Given the description of an element on the screen output the (x, y) to click on. 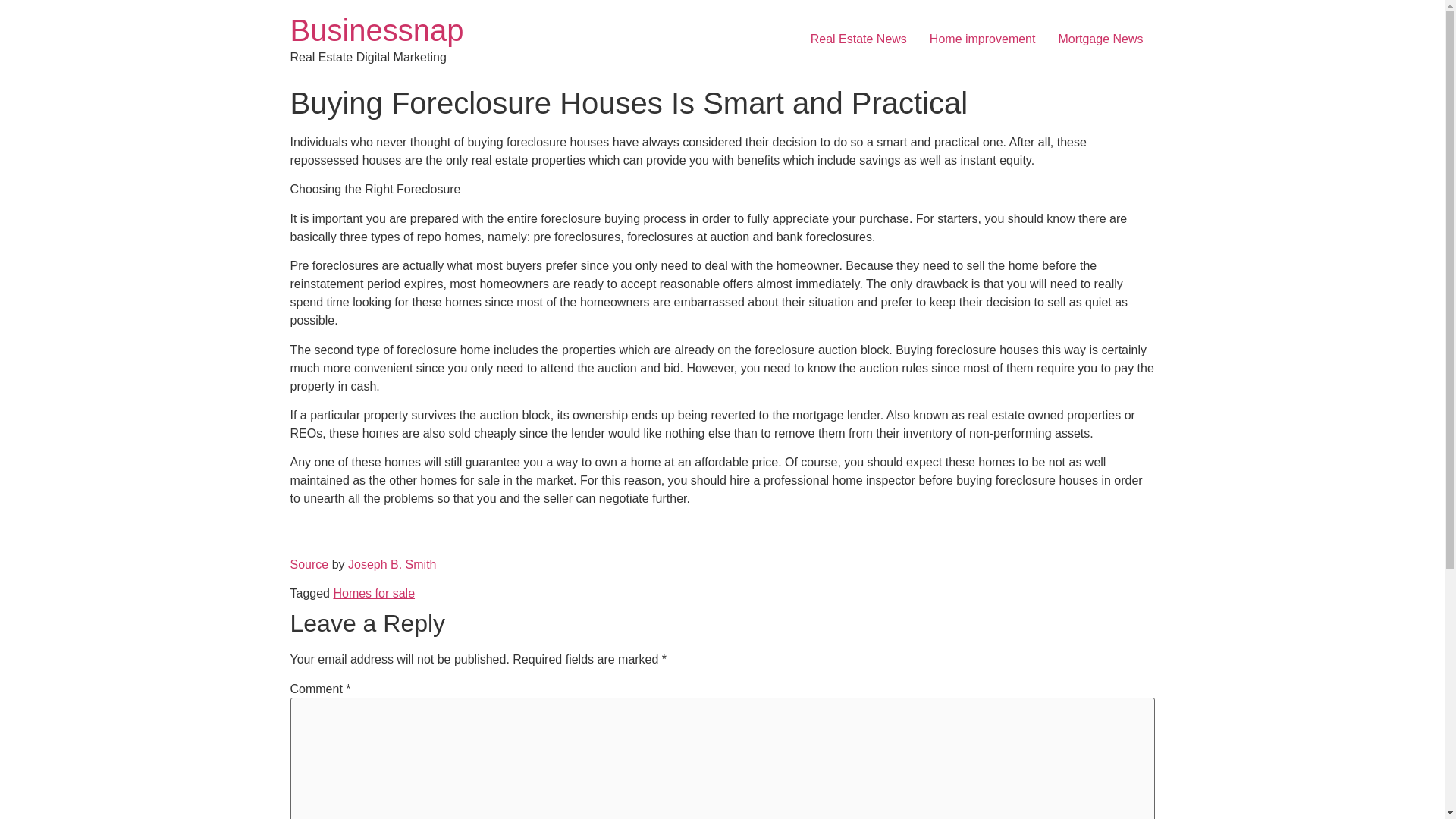
Mortgage News (1100, 39)
Home (376, 29)
Real Estate News (858, 39)
Home improvement (982, 39)
Homes for sale (373, 593)
Source (309, 563)
Businessnap (376, 29)
Joseph B. Smith (391, 563)
